Given the description of an element on the screen output the (x, y) to click on. 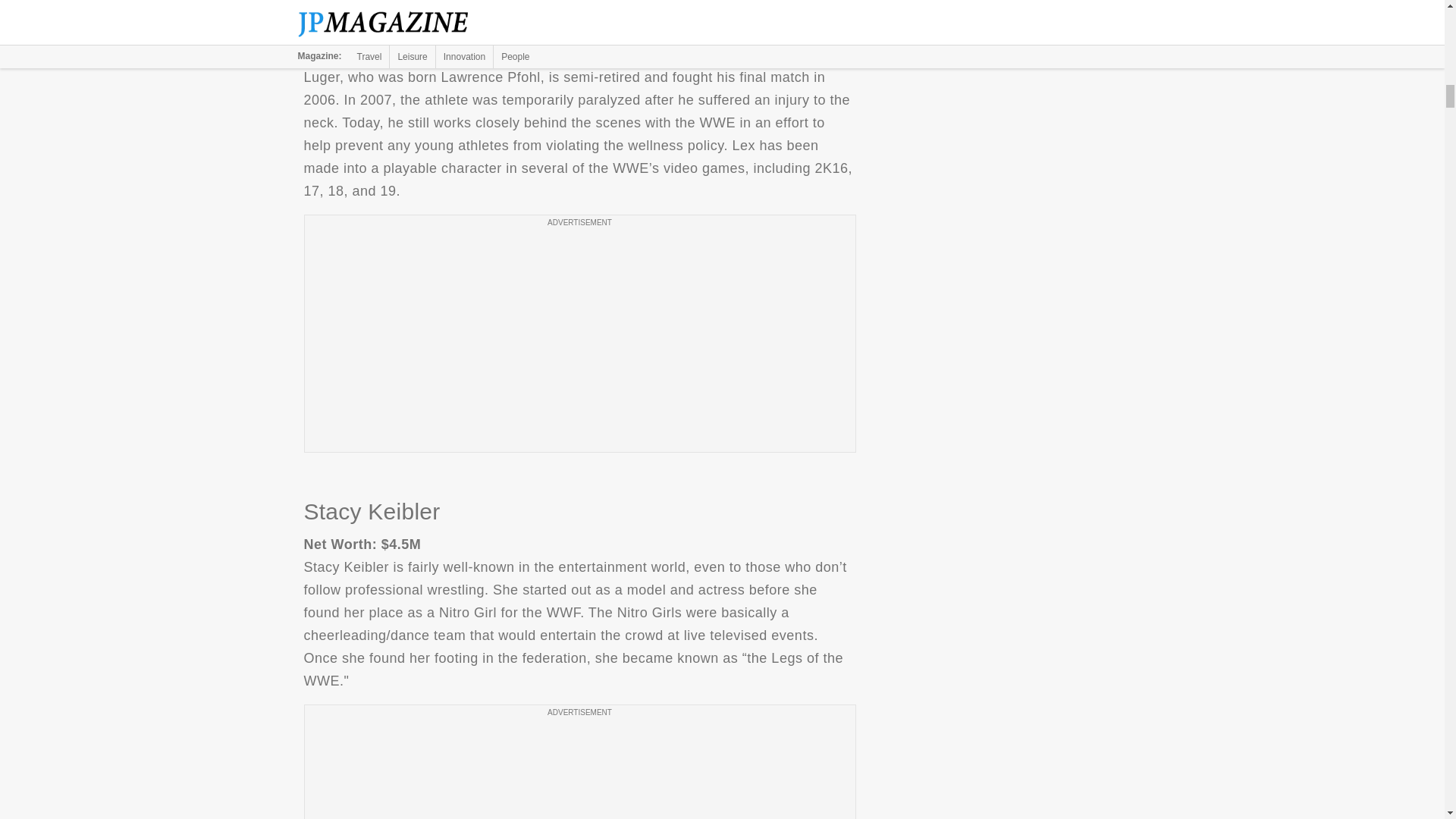
Lex Luger (579, 8)
